Given the description of an element on the screen output the (x, y) to click on. 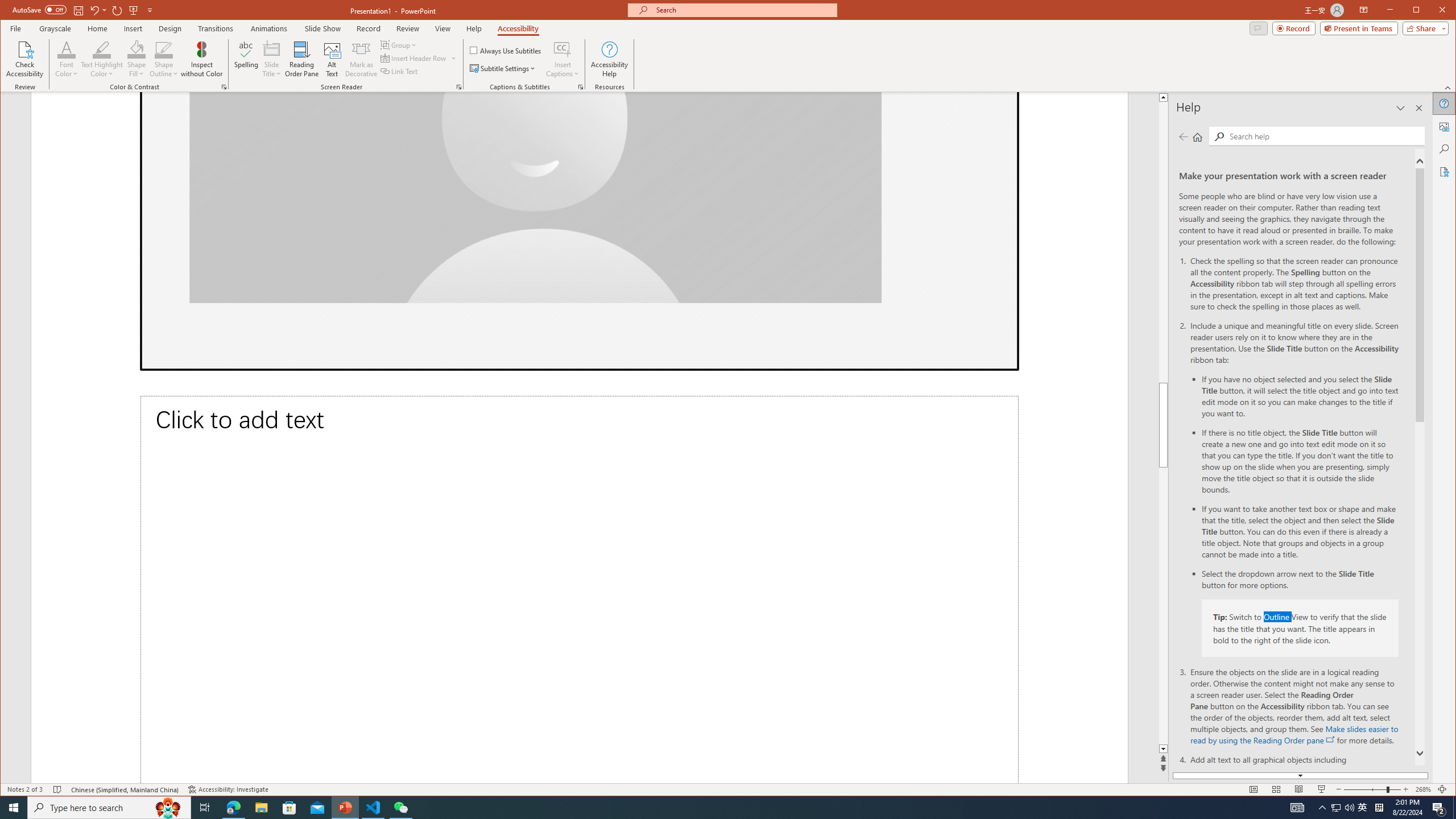
Subtitle Settings (502, 68)
Inspect without Color (201, 59)
